Given the description of an element on the screen output the (x, y) to click on. 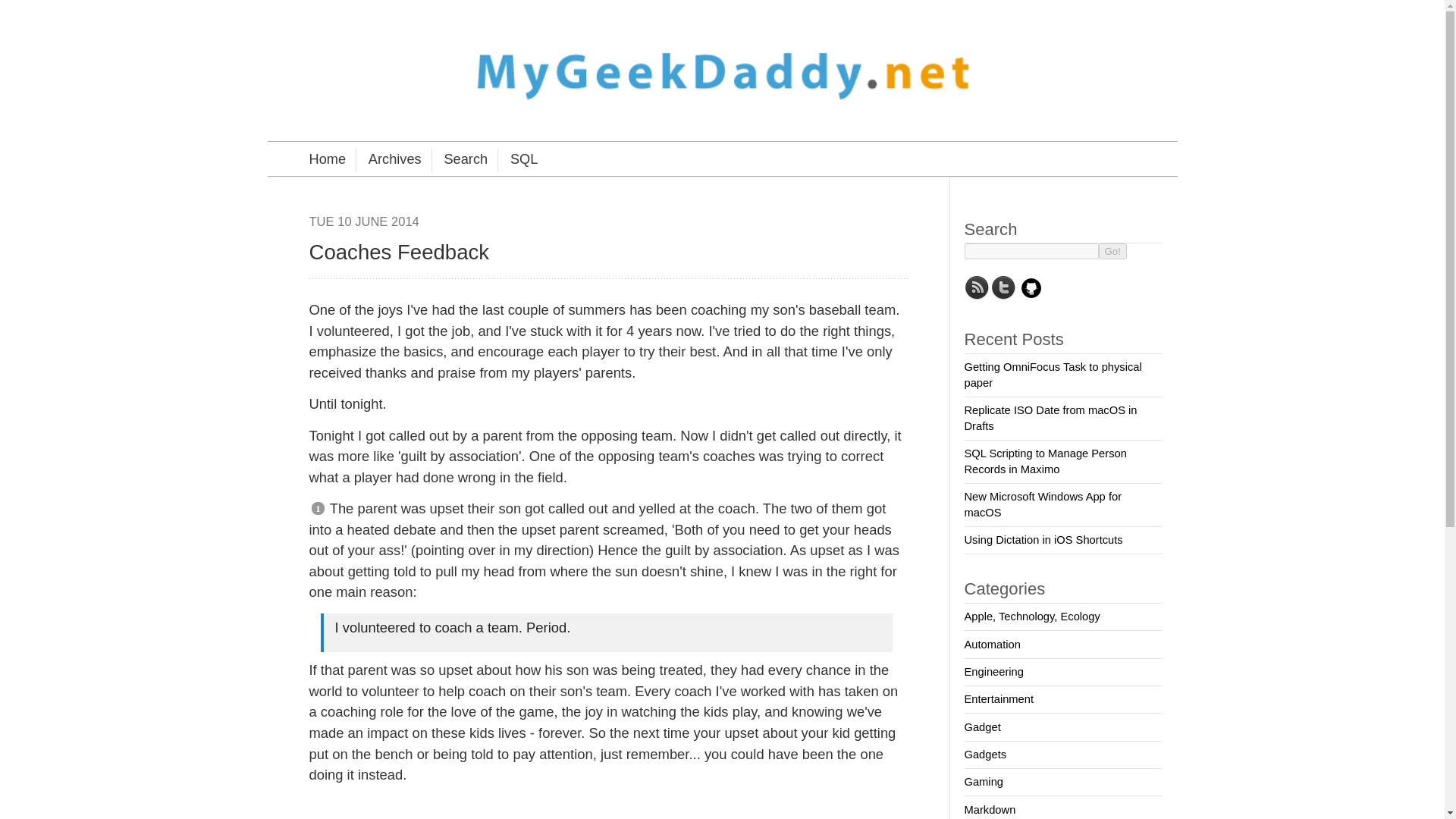
Coaching (627, 818)
Archives (388, 159)
Home (327, 159)
Baseball (575, 818)
SQL (517, 159)
Search (459, 159)
